Given the description of an element on the screen output the (x, y) to click on. 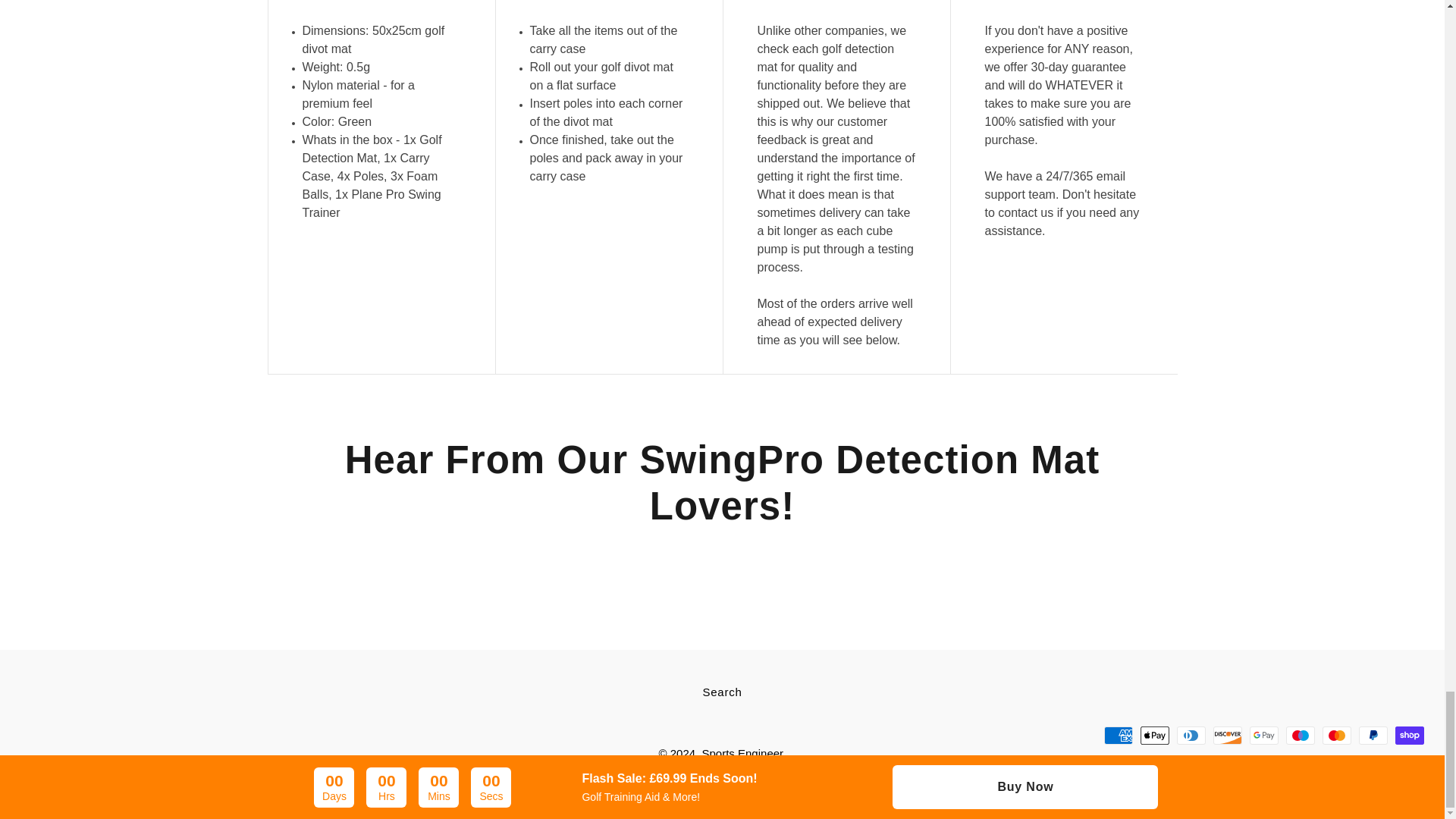
PayPal (1372, 735)
Mastercard (1336, 735)
Visa (1285, 766)
Google Pay (1263, 735)
Maestro (1299, 735)
Discover (1226, 735)
Diners Club (1190, 735)
Shop Pay (1408, 735)
Union Pay (1248, 766)
American Express (1117, 735)
Apple Pay (1154, 735)
